Given the description of an element on the screen output the (x, y) to click on. 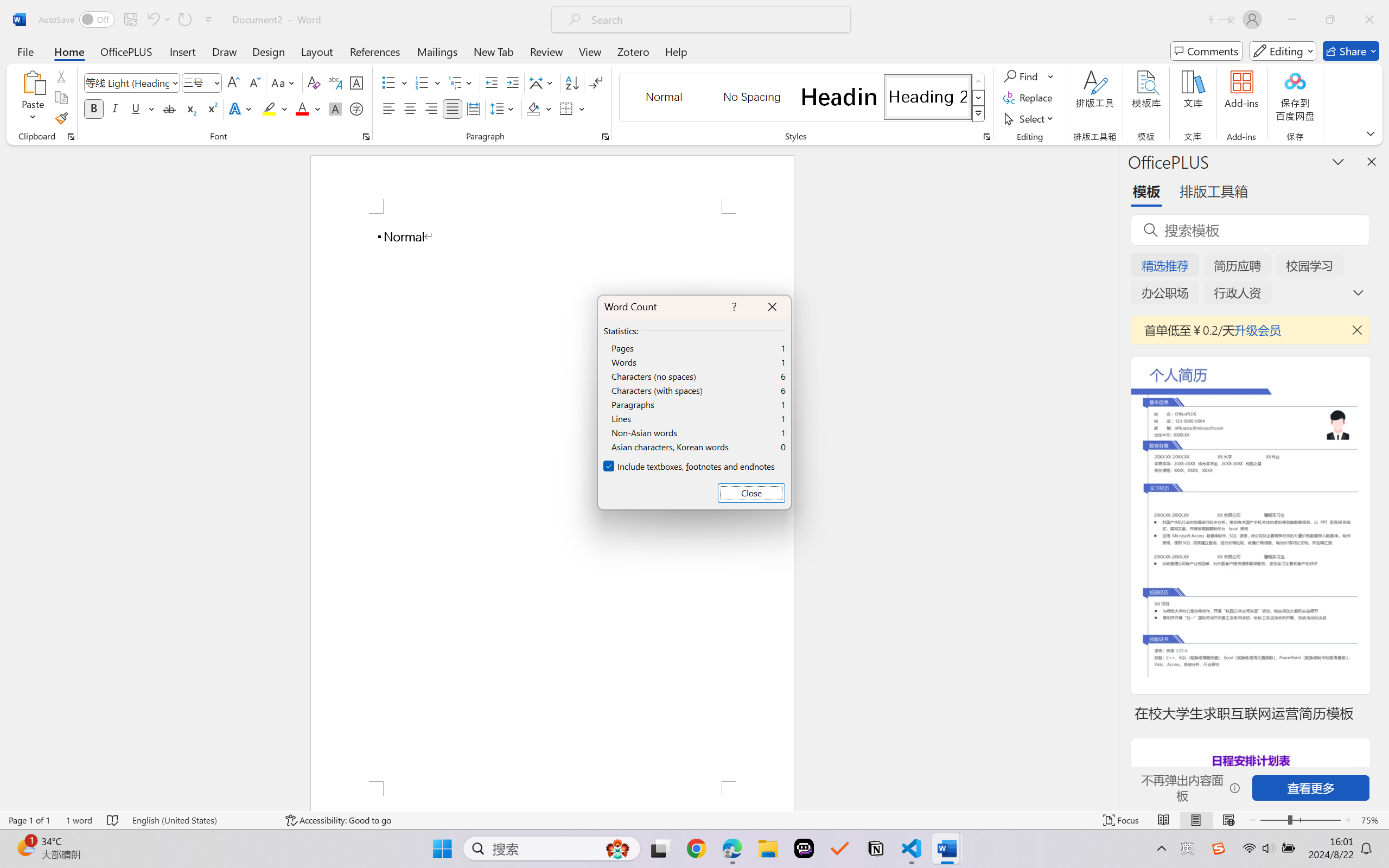
Class: NetUIImage (978, 114)
Numbering (428, 82)
Close (751, 492)
Help (675, 51)
Enclose Characters... (356, 108)
Paste (33, 97)
Web Layout (1228, 819)
